Given the description of an element on the screen output the (x, y) to click on. 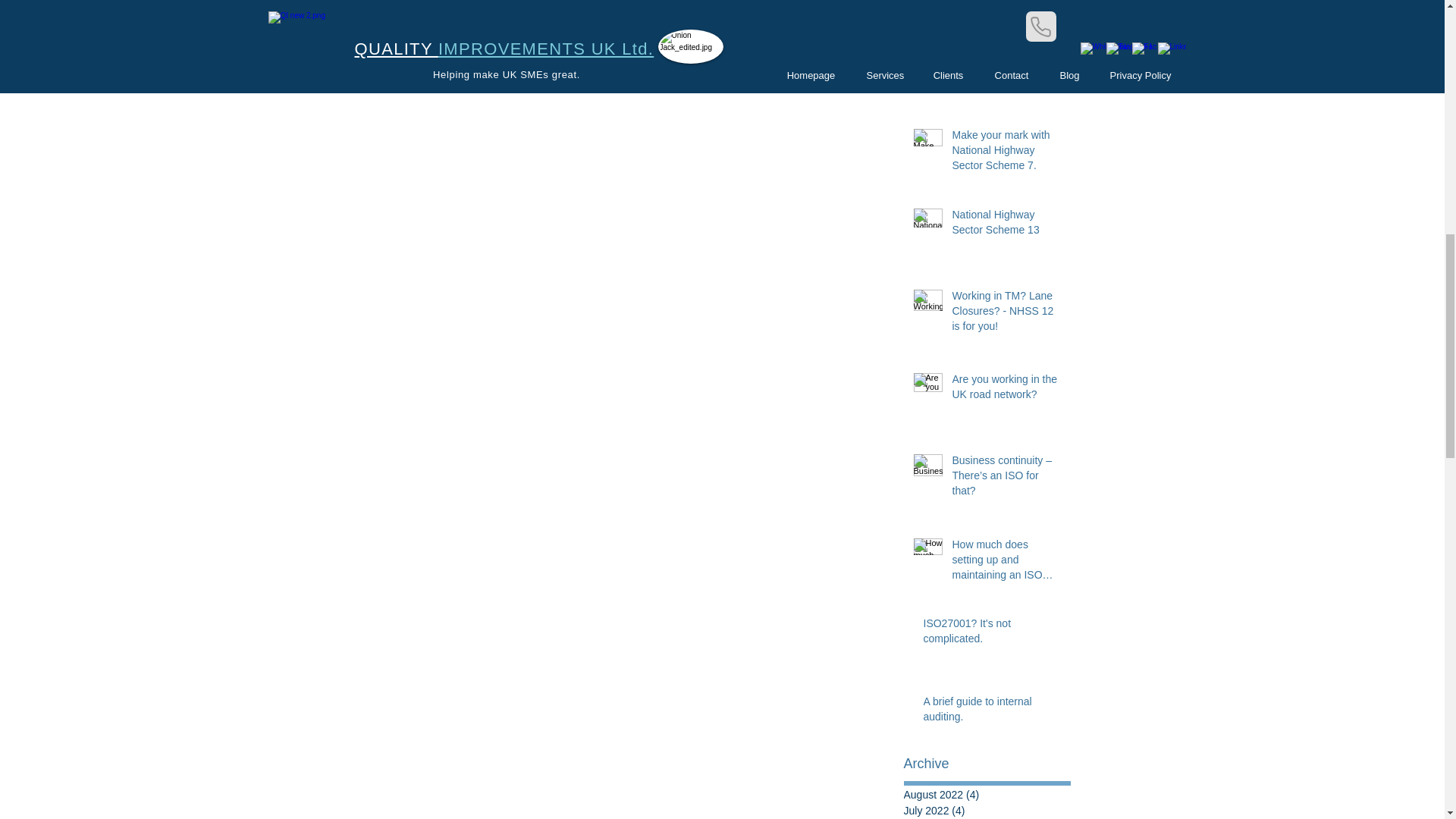
National Highway Sector Scheme 13 (1006, 225)
Post not marked as liked (835, 84)
Working in TM? Lane Closures? - NHSS 12 is for you! (1006, 314)
The Value of Internal Audits. (1006, 0)
Make your mark with National Highway Sector Scheme 7. (1006, 153)
